Given the description of an element on the screen output the (x, y) to click on. 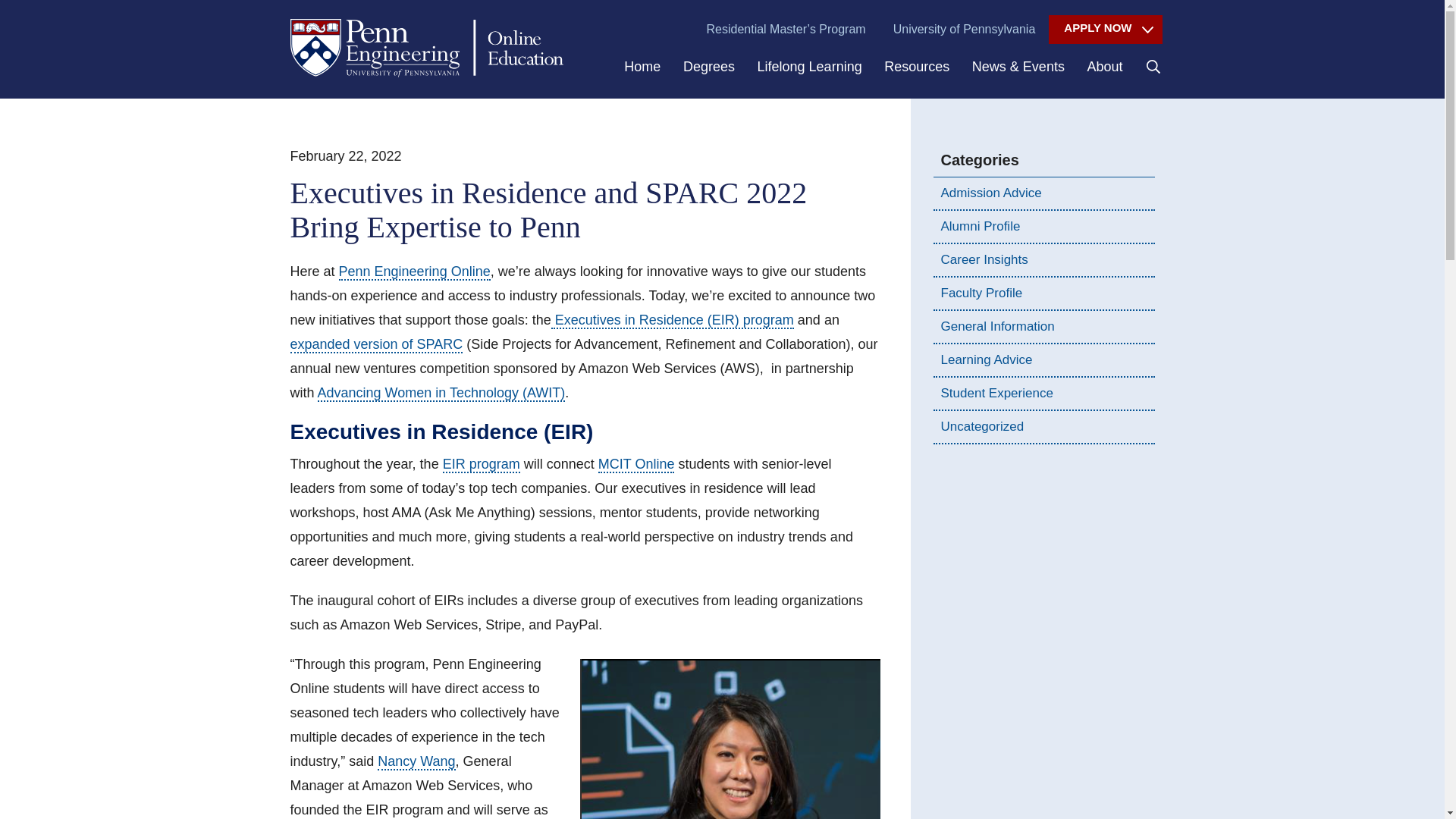
Home (641, 76)
University of Pennsylvania (964, 29)
Degrees (709, 76)
